Given the description of an element on the screen output the (x, y) to click on. 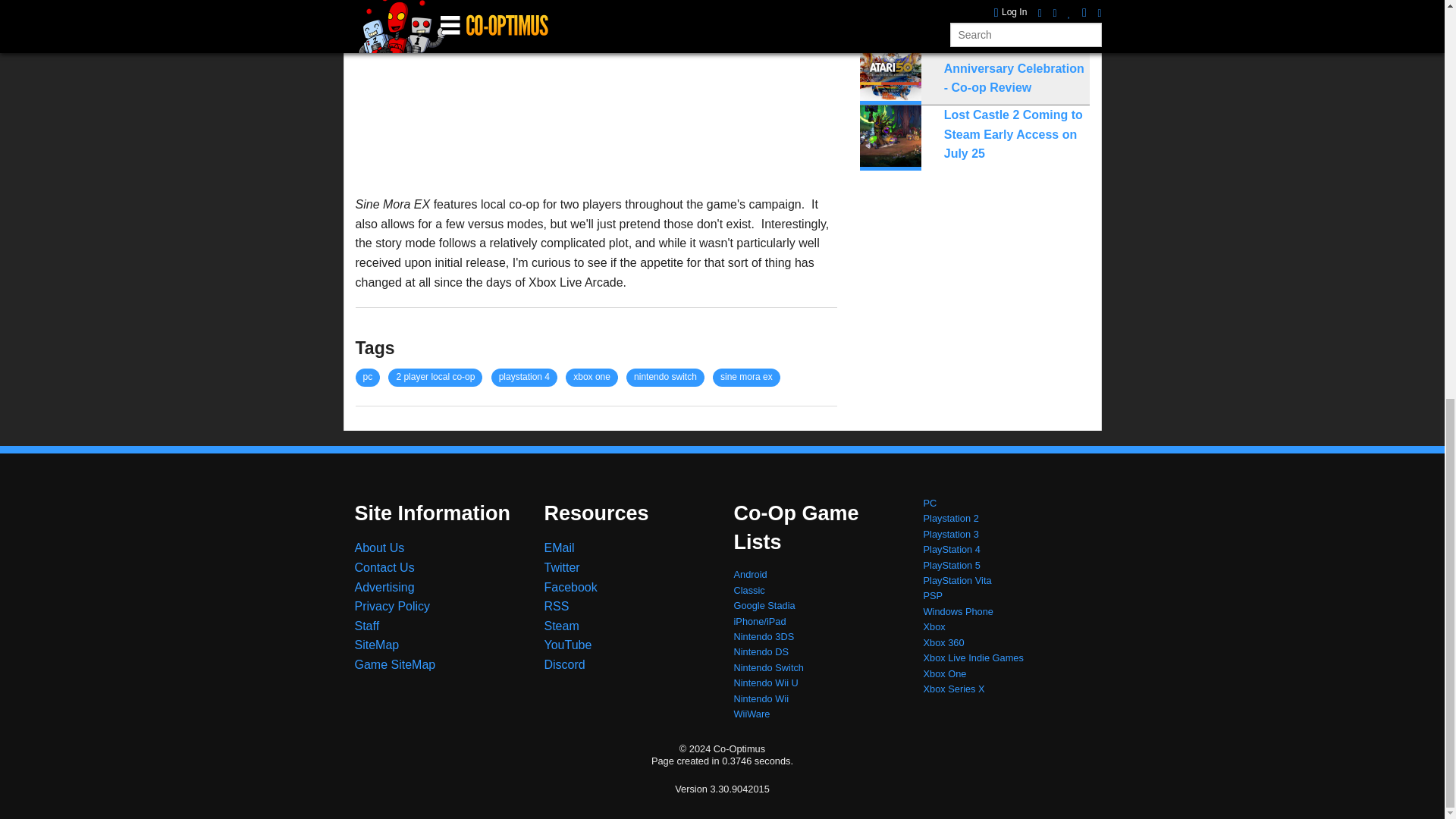
Our current staff and bios. (367, 625)
Advertising rates and traffic numbers. (384, 586)
Join our Steam Group! (561, 625)
